Given the description of an element on the screen output the (x, y) to click on. 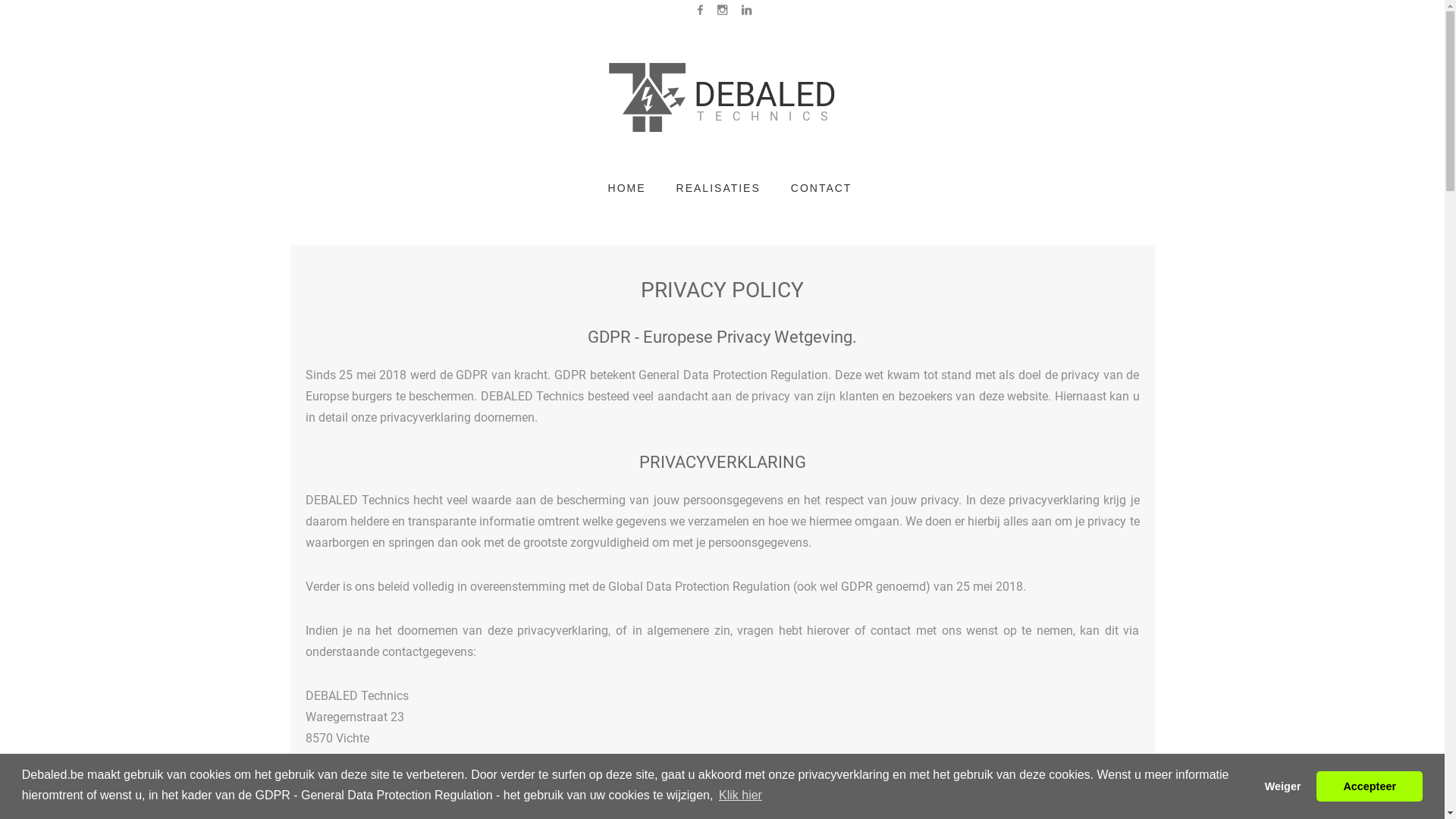
CONTACT Element type: text (821, 188)
REALISATIES Element type: text (718, 188)
LinkedIn Element type: hover (739, 9)
Weiger Element type: text (1282, 786)
Klik hier Element type: text (740, 795)
Accepteer Element type: text (1369, 786)
DEBALED Element type: text (721, 94)
Instagram Element type: hover (715, 9)
Facebook Element type: hover (693, 9)
HOME Element type: text (626, 188)
